Given the description of an element on the screen output the (x, y) to click on. 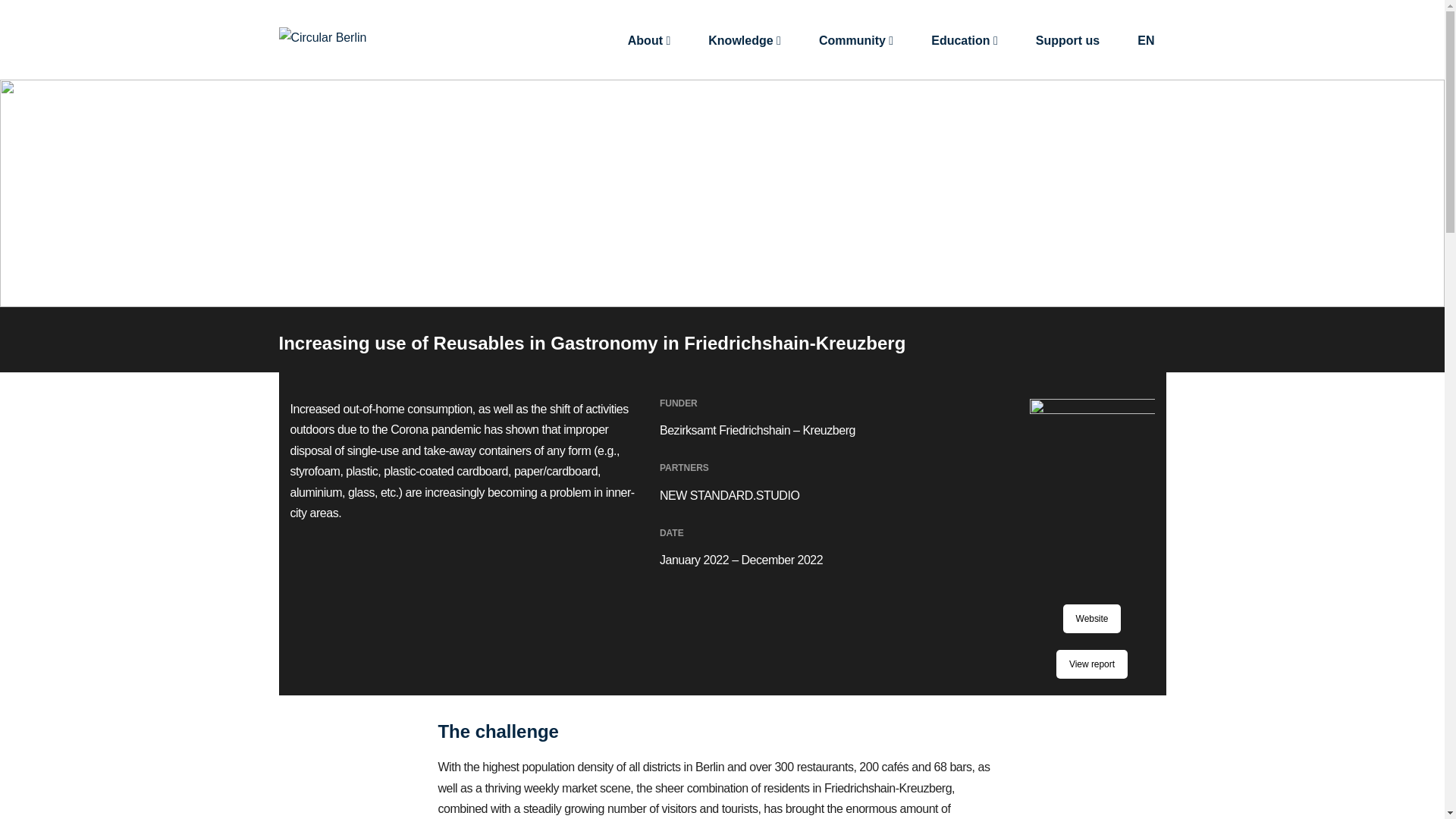
Community (856, 39)
Website (1091, 618)
EN (1145, 39)
About (648, 39)
Education (964, 39)
Support us (1067, 39)
Our work (1091, 618)
Circular Berlin (322, 37)
View report (1091, 664)
Our work (1091, 664)
